Given the description of an element on the screen output the (x, y) to click on. 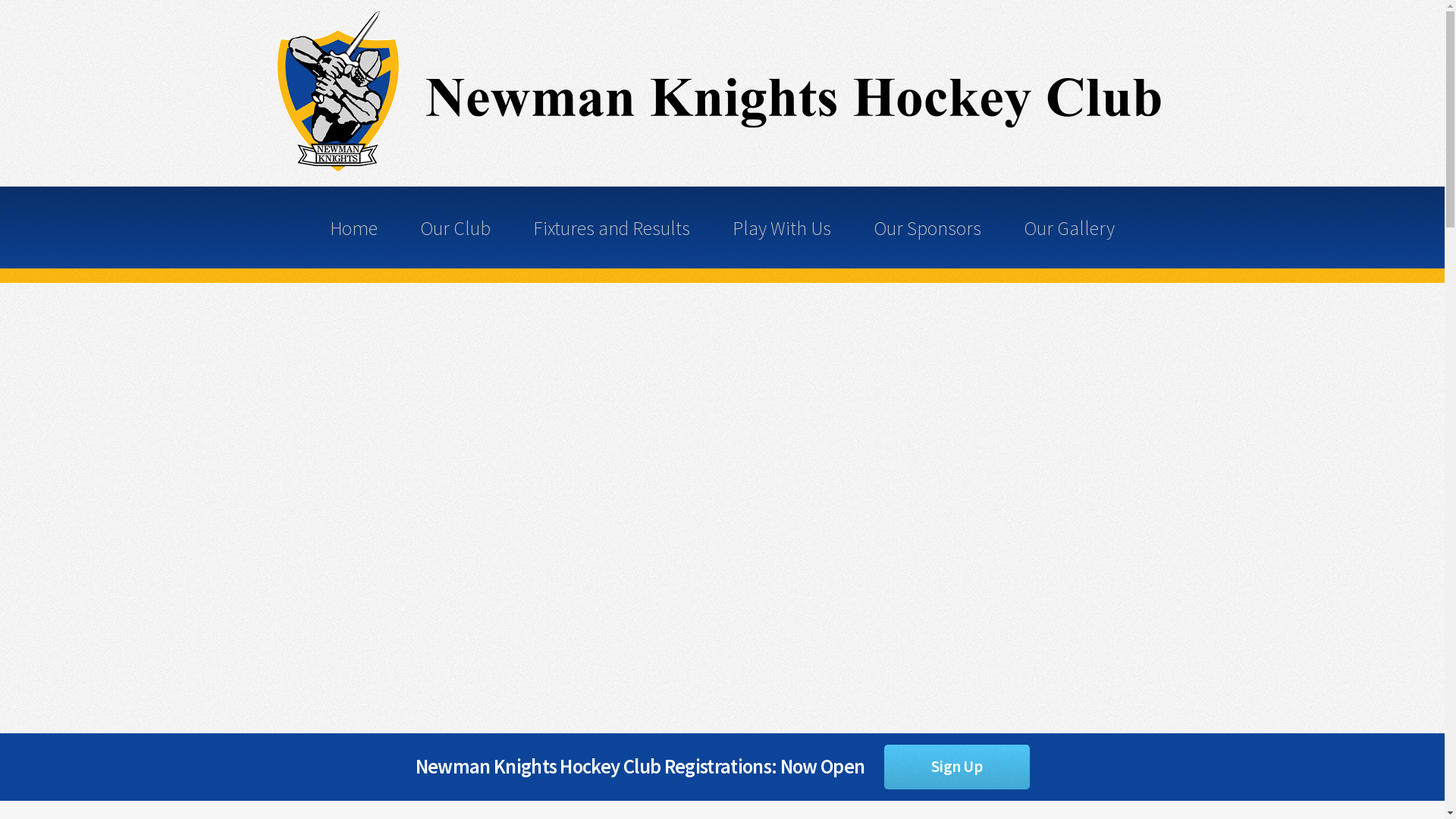
Our Sponsors Element type: text (927, 227)
Home Element type: text (353, 227)
Play With Us Element type: text (781, 227)
Our Gallery Element type: text (1069, 227)
Sign Up Element type: text (956, 766)
Our Club Element type: text (455, 227)
Fixtures and Results Element type: text (611, 227)
